Given the description of an element on the screen output the (x, y) to click on. 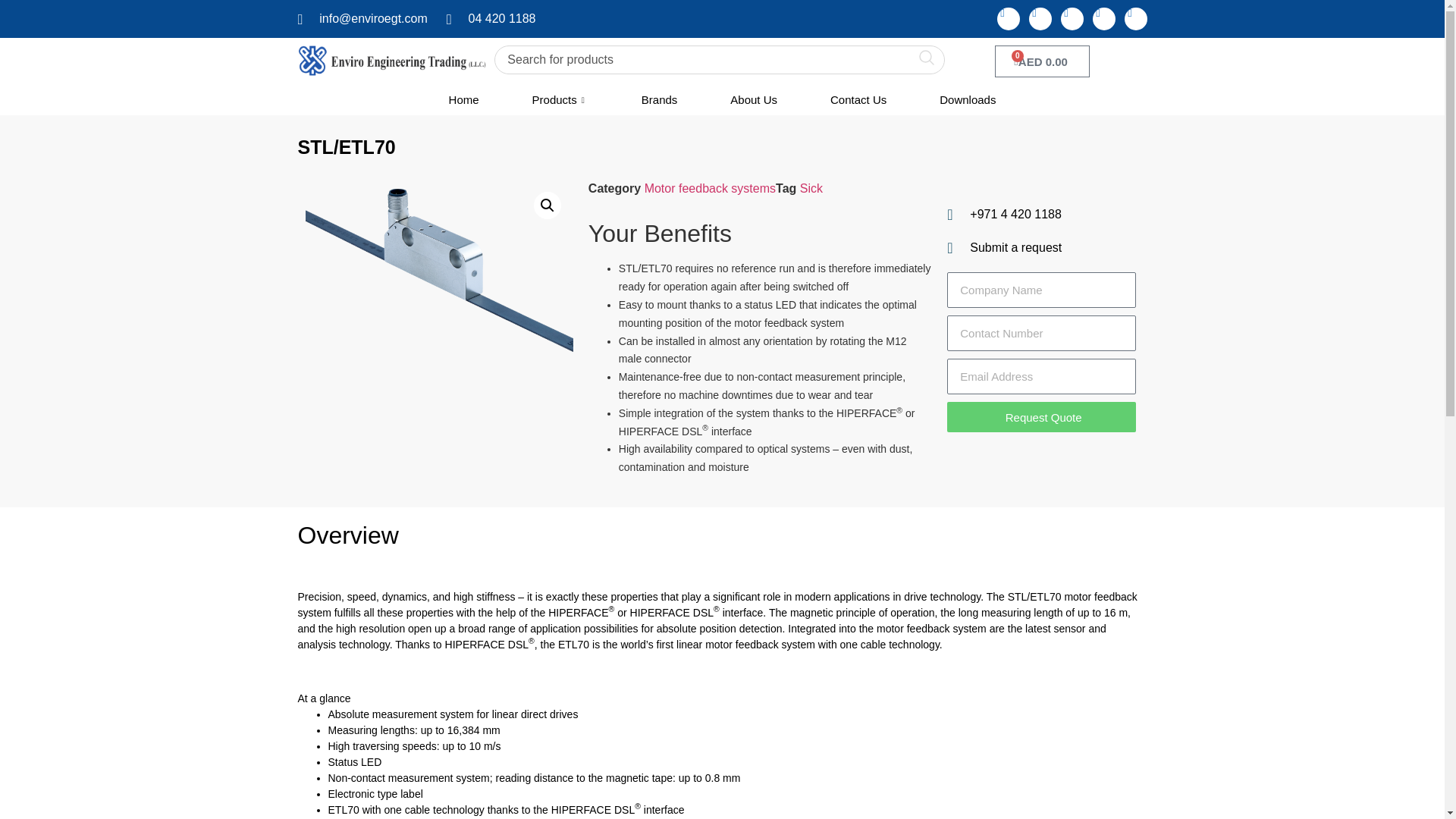
Products (559, 99)
04 420 1188 (1041, 60)
IM0095833 (490, 18)
Home (438, 270)
Enviro-LOGO (463, 99)
